Given the description of an element on the screen output the (x, y) to click on. 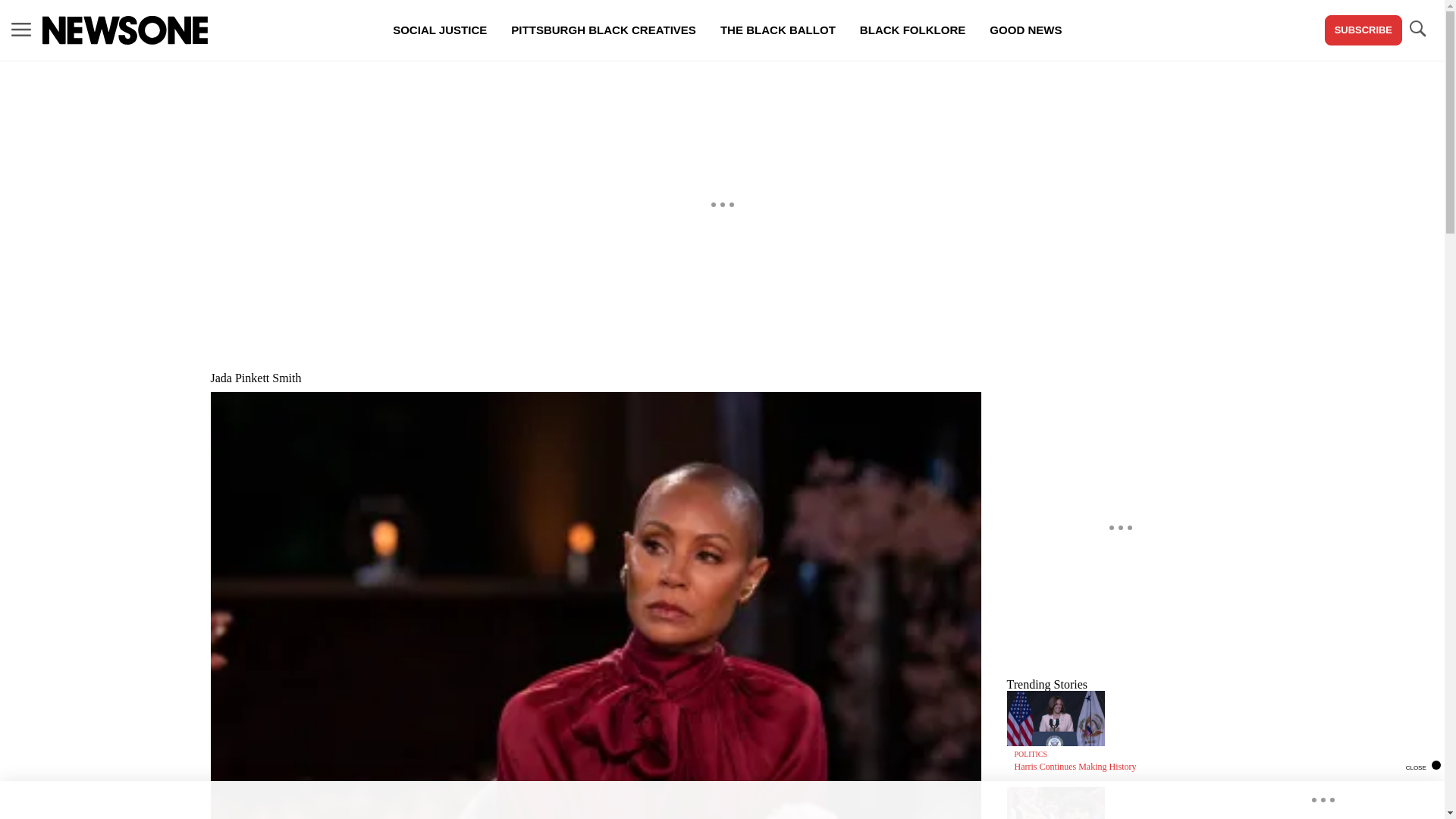
PITTSBURGH BLACK CREATIVES (603, 30)
MENU (20, 30)
TOGGLE SEARCH (1417, 28)
GOOD NEWS (1025, 30)
SUBSCRIBE (1363, 30)
BLACK FOLKLORE (911, 30)
MENU (20, 29)
THE BLACK BALLOT (777, 30)
SOCIAL JUSTICE (439, 30)
TOGGLE SEARCH (1417, 30)
